Given the description of an element on the screen output the (x, y) to click on. 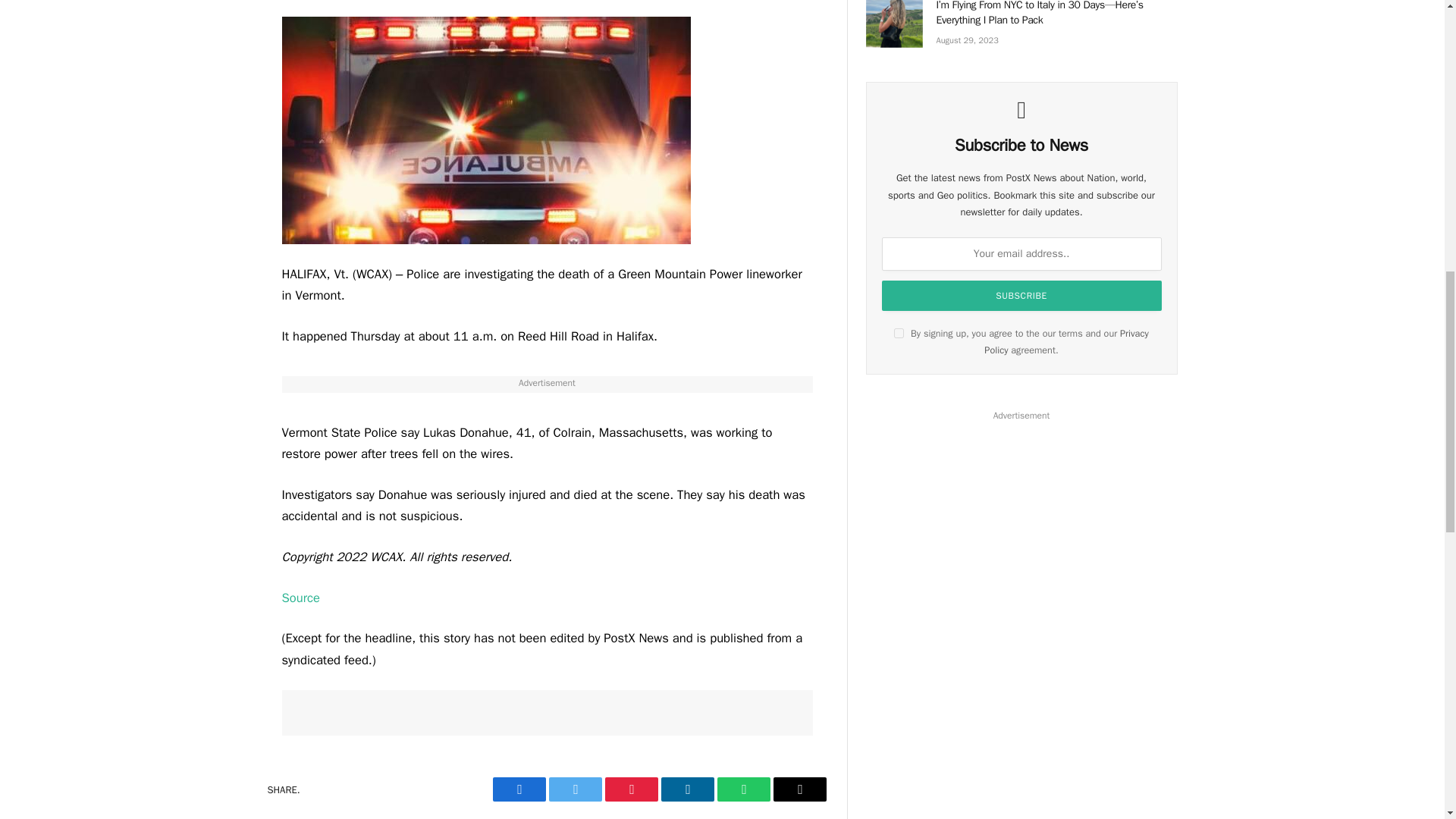
on (898, 333)
Subscribe (1021, 295)
